Given the description of an element on the screen output the (x, y) to click on. 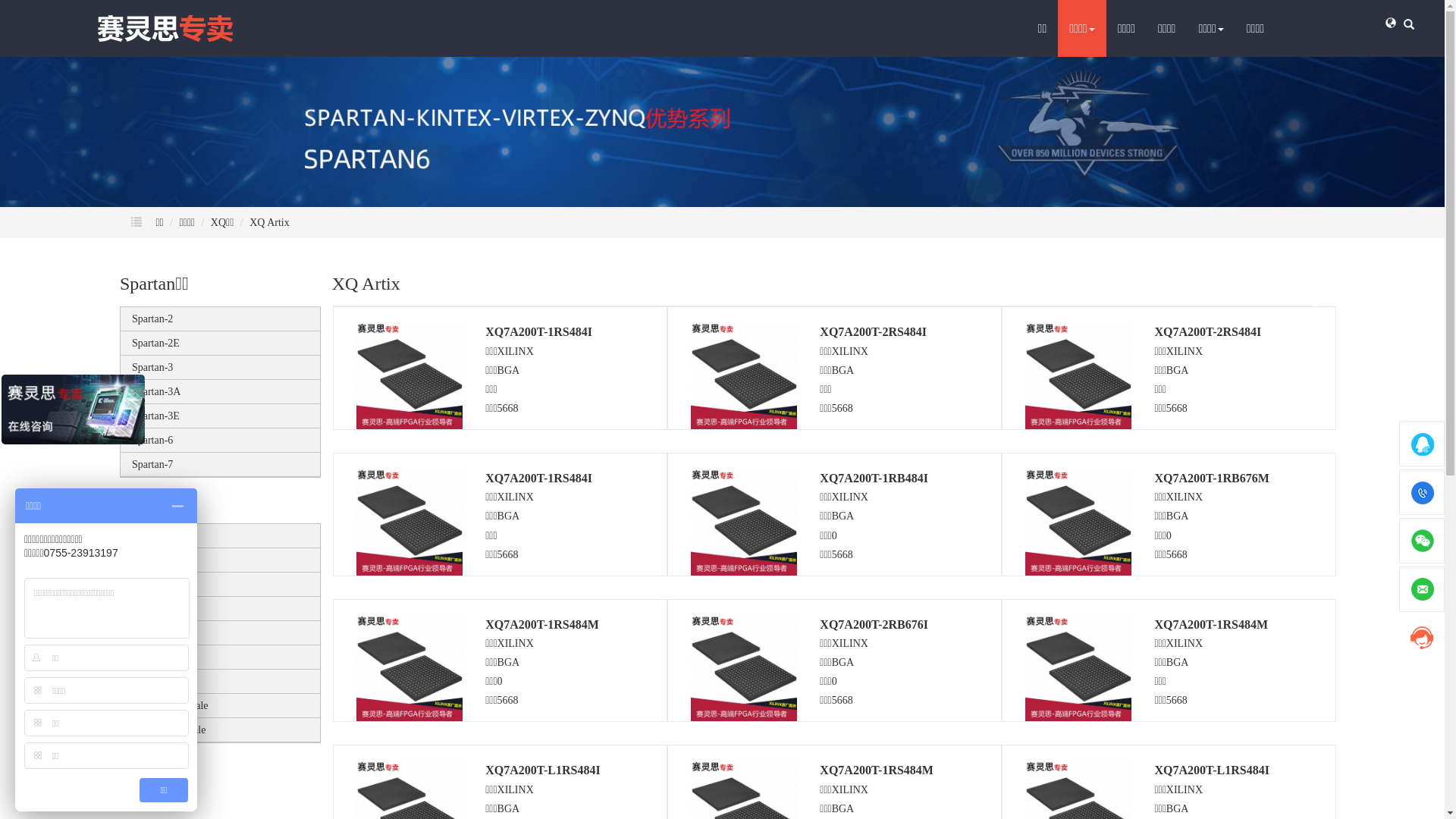
XQ7A200T-1RS484M Element type: text (876, 769)
XQ7A200T-1RS484I Element type: text (538, 477)
XQ7A200T-1RS484M Element type: text (542, 624)
Virtex UltraScale Element type: text (168, 729)
Spartan-3E Element type: text (155, 415)
XQ7A200T-1RB676M Element type: text (1211, 477)
Spartan-3A Element type: text (156, 391)
XQ7A200T-2RS484I Element type: text (872, 331)
XQ Artix Element type: text (269, 222)
XQ7A200T-1RB484I Element type: text (873, 477)
XQ7A200T-1RS484I Element type: text (538, 331)
XQ7A200T-2RS484I Element type: text (1207, 331)
Virtex-4 Element type: text (149, 535)
XQ7A200T-2RB676I Element type: text (873, 624)
Virtex-7 Element type: text (149, 608)
Virtex-5 Element type: text (149, 559)
XQ7A200T-L1RS484I Element type: text (542, 769)
Spartan-6 Element type: text (151, 439)
Spartan-2E Element type: text (155, 342)
XQ7A200T-L1RS484I Element type: text (1211, 769)
Spartan-3 Element type: text (151, 367)
XQ7A200T-1RS484M Element type: text (1210, 624)
Artix-7 Element type: text (147, 632)
Zynq-7000 Element type: text (154, 681)
Spartan-2 Element type: text (151, 318)
Kintex-7 Element type: text (150, 656)
Kintex UltraScale Element type: text (169, 705)
Spartan-7 Element type: text (151, 464)
Virtex-6 Element type: text (149, 583)
